Given the description of an element on the screen output the (x, y) to click on. 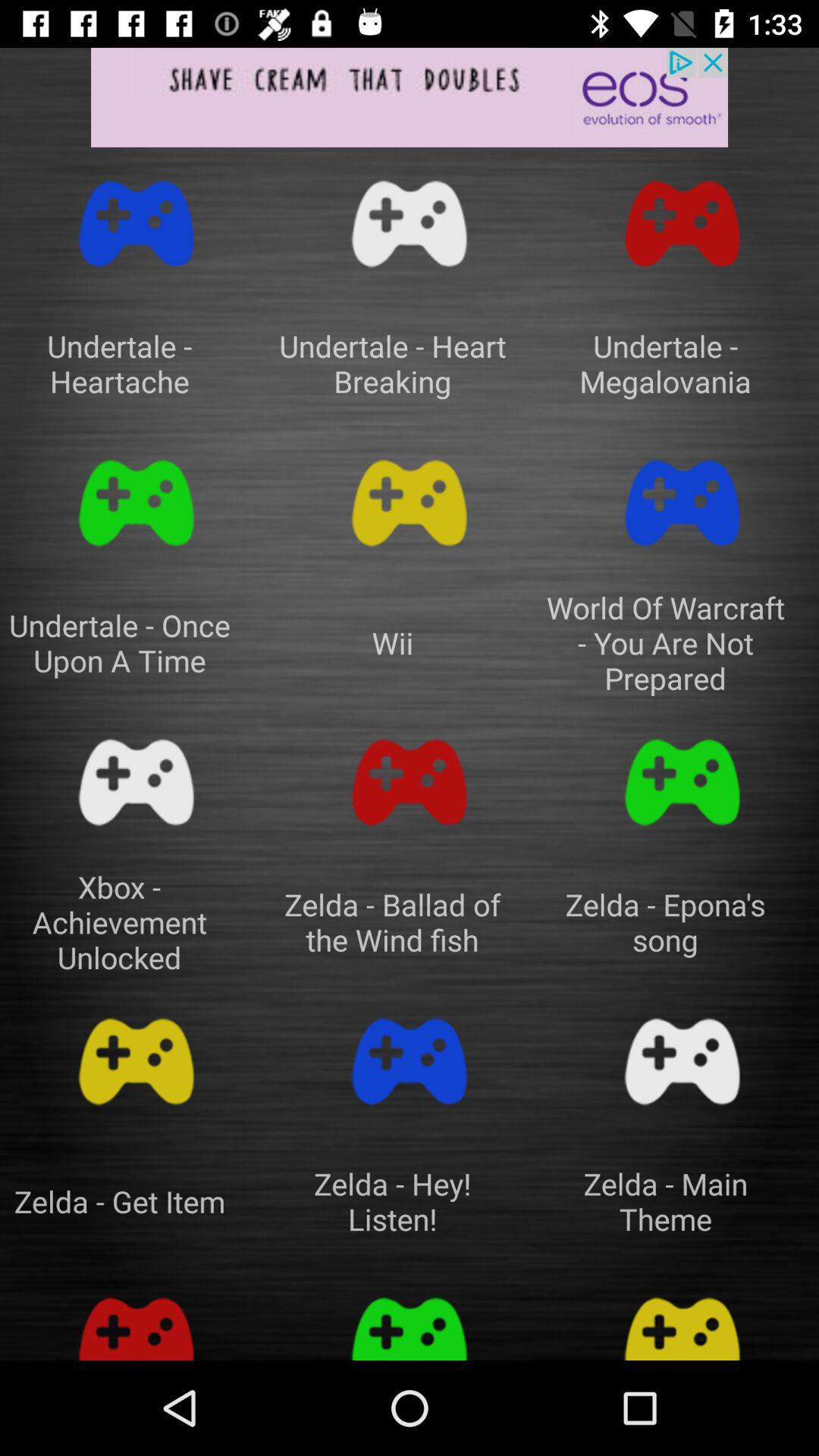
chose a game (682, 782)
